Given the description of an element on the screen output the (x, y) to click on. 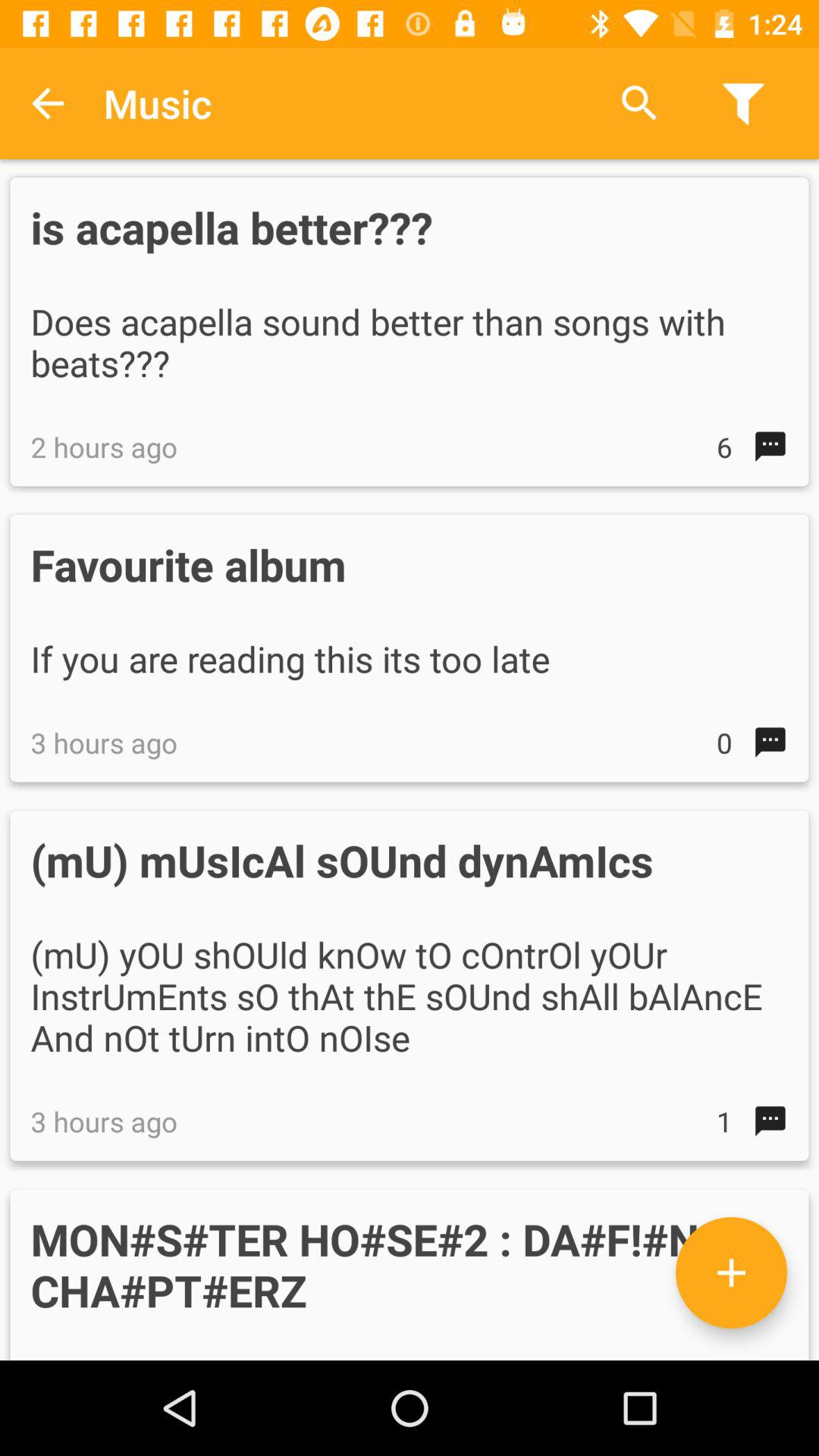
turn off item to the left of the music (47, 103)
